Given the description of an element on the screen output the (x, y) to click on. 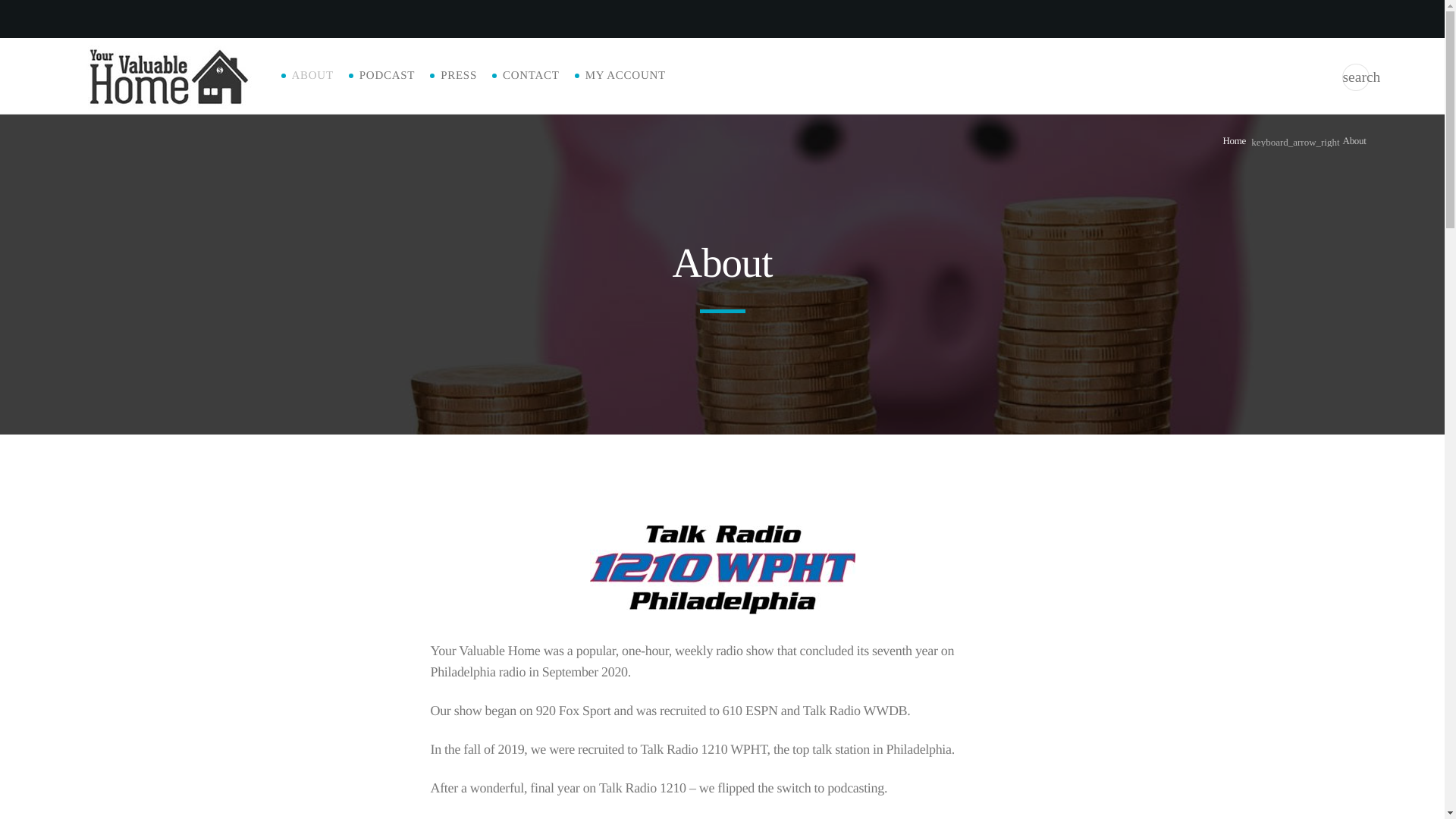
MY ACCOUNT (625, 75)
PRESS (459, 75)
PODCAST (386, 75)
CONTACT (530, 75)
ABOUT (312, 75)
Home (1235, 140)
